Given the description of an element on the screen output the (x, y) to click on. 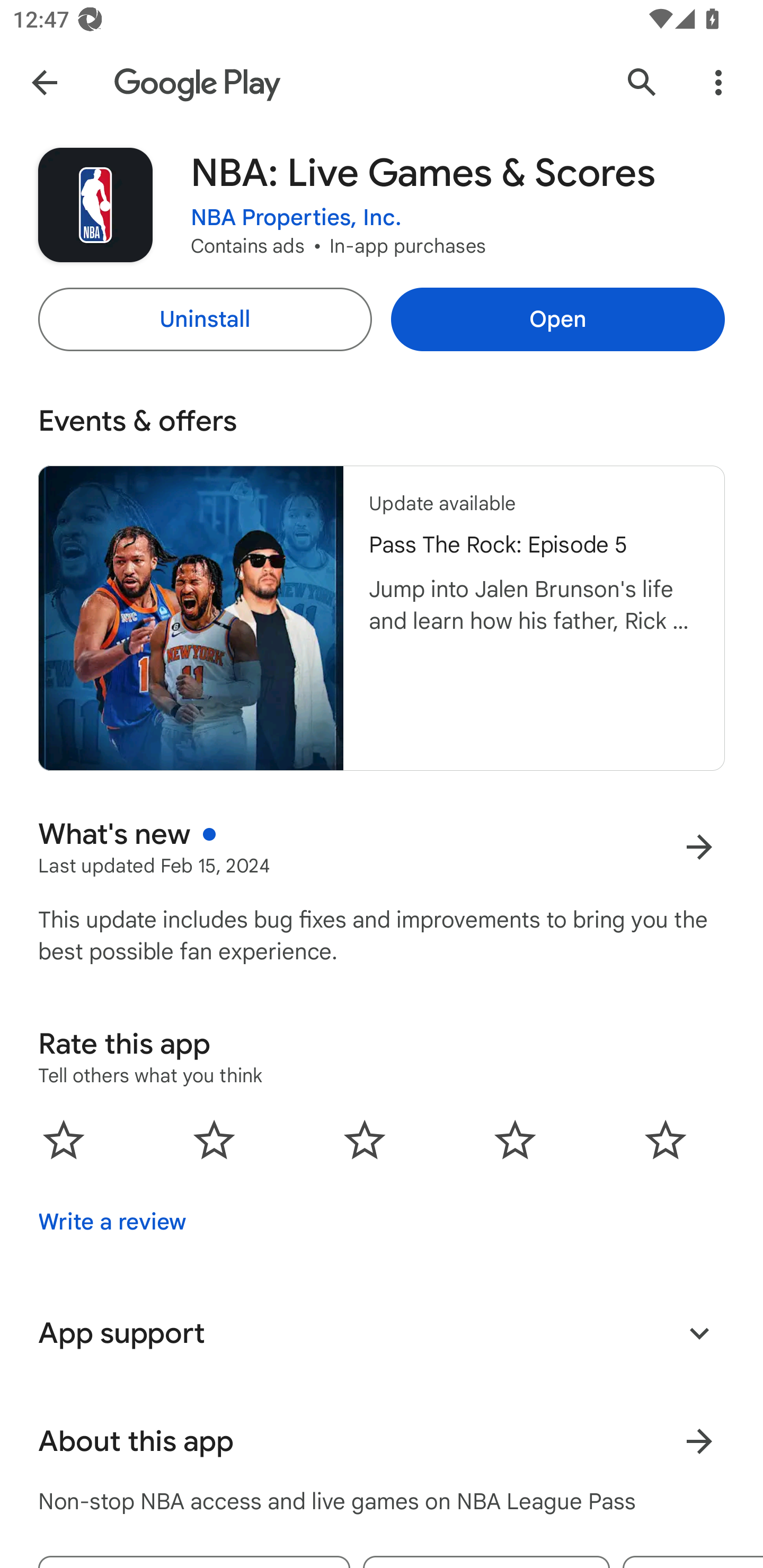
Navigate up (44, 81)
Search Google Play (642, 81)
More Options (718, 81)
NBA Properties, Inc. (295, 217)
Uninstall (205, 318)
Open (557, 318)
More results for What's new (699, 847)
0.0 (364, 1138)
Write a review (112, 1221)
App support Expand (381, 1333)
Expand (699, 1333)
About this app Learn more About this app (381, 1441)
Learn more About this app (699, 1441)
